Given the description of an element on the screen output the (x, y) to click on. 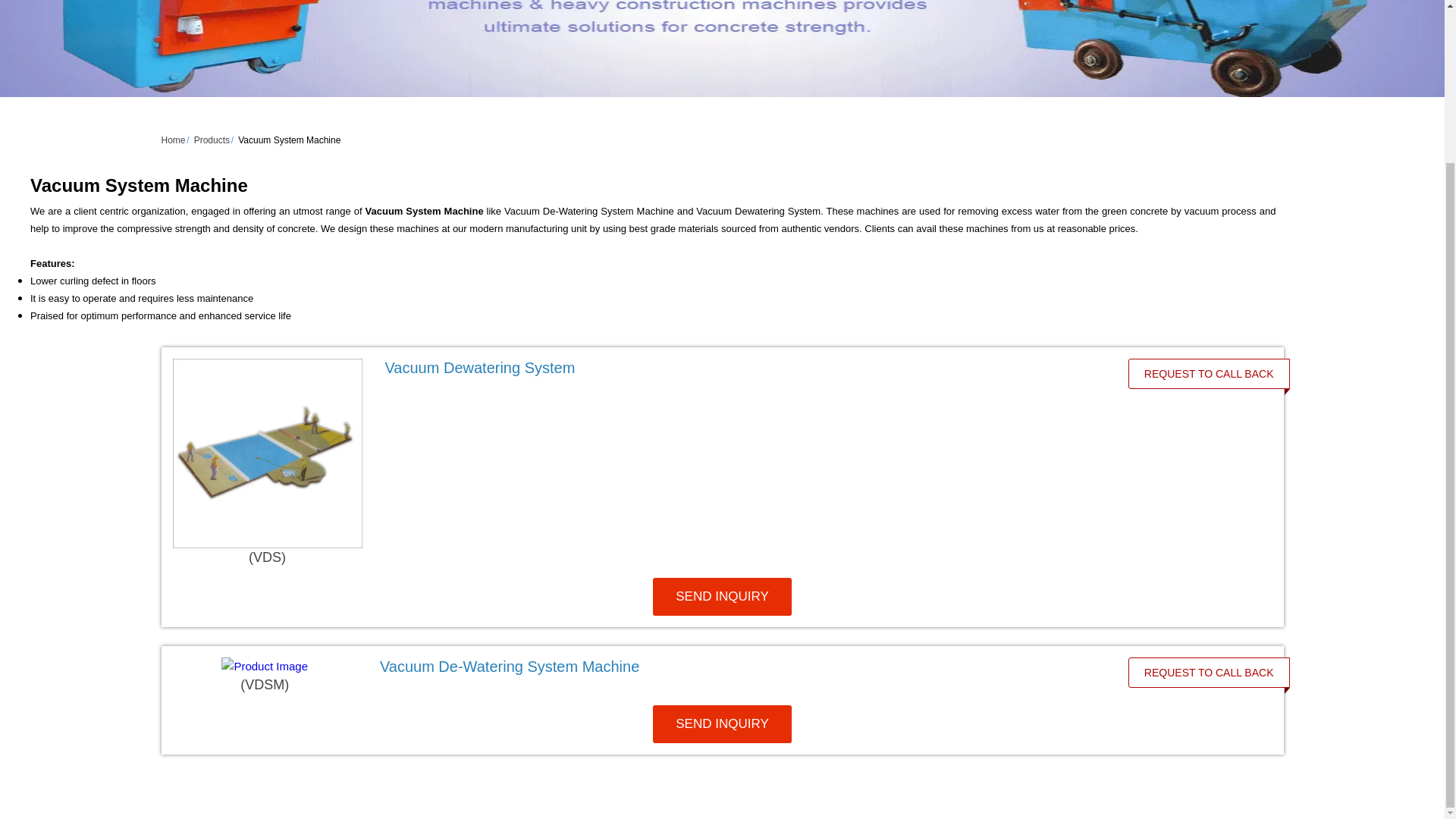
Vacuum De-Watering System Machine (509, 666)
Home (172, 140)
SEND INQUIRY (722, 596)
Products (211, 140)
REQUEST TO CALL BACK (1208, 672)
SEND INQUIRY (722, 723)
Vacuum Dewatering System (480, 367)
Vacuum Dewatering System (739, 367)
Vacuum De-Watering System Machine (736, 666)
REQUEST TO CALL BACK (1208, 373)
